Given the description of an element on the screen output the (x, y) to click on. 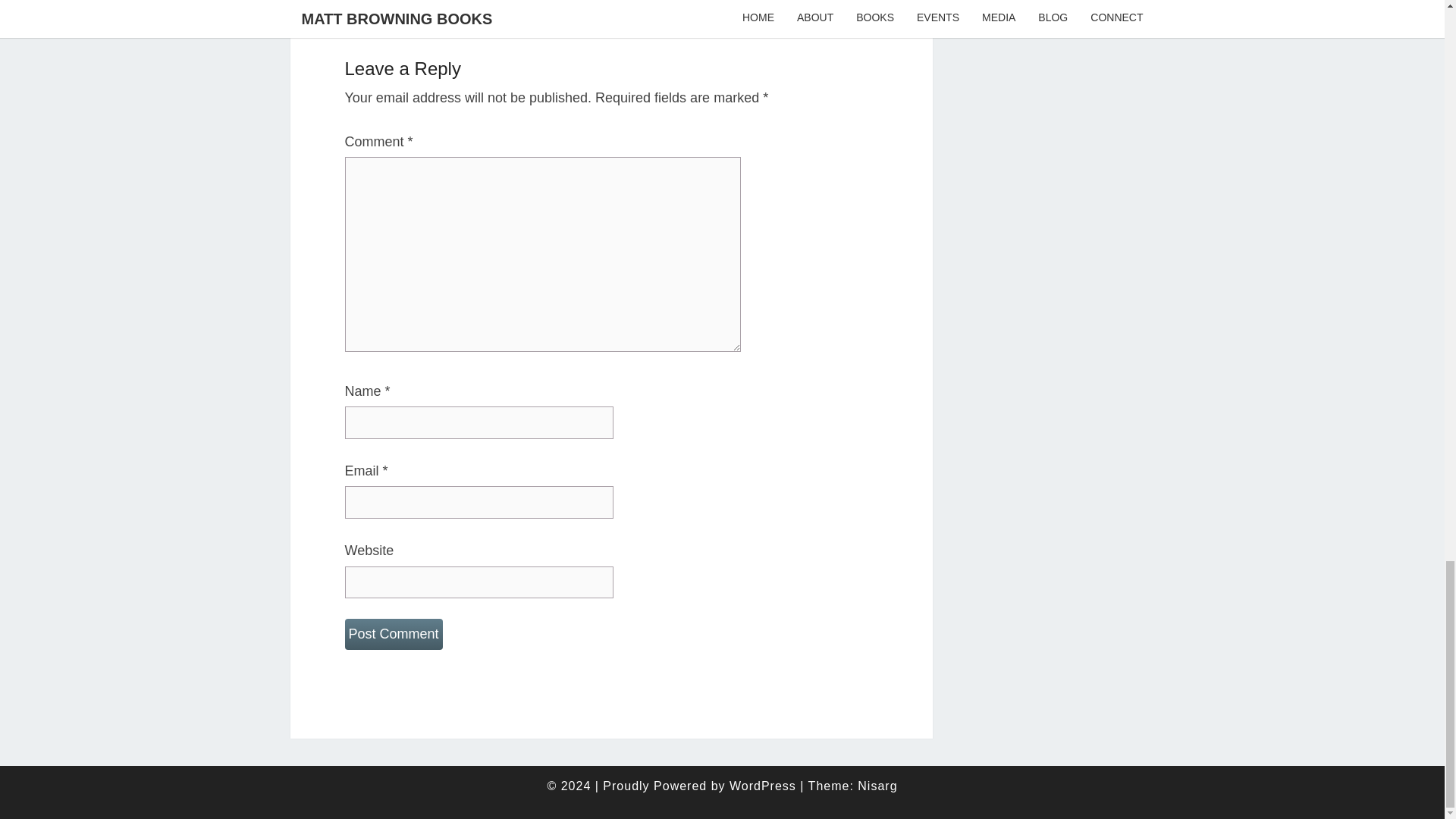
Post Comment (392, 634)
Post Comment (392, 634)
Nisarg (876, 785)
WordPress (762, 785)
